Given the description of an element on the screen output the (x, y) to click on. 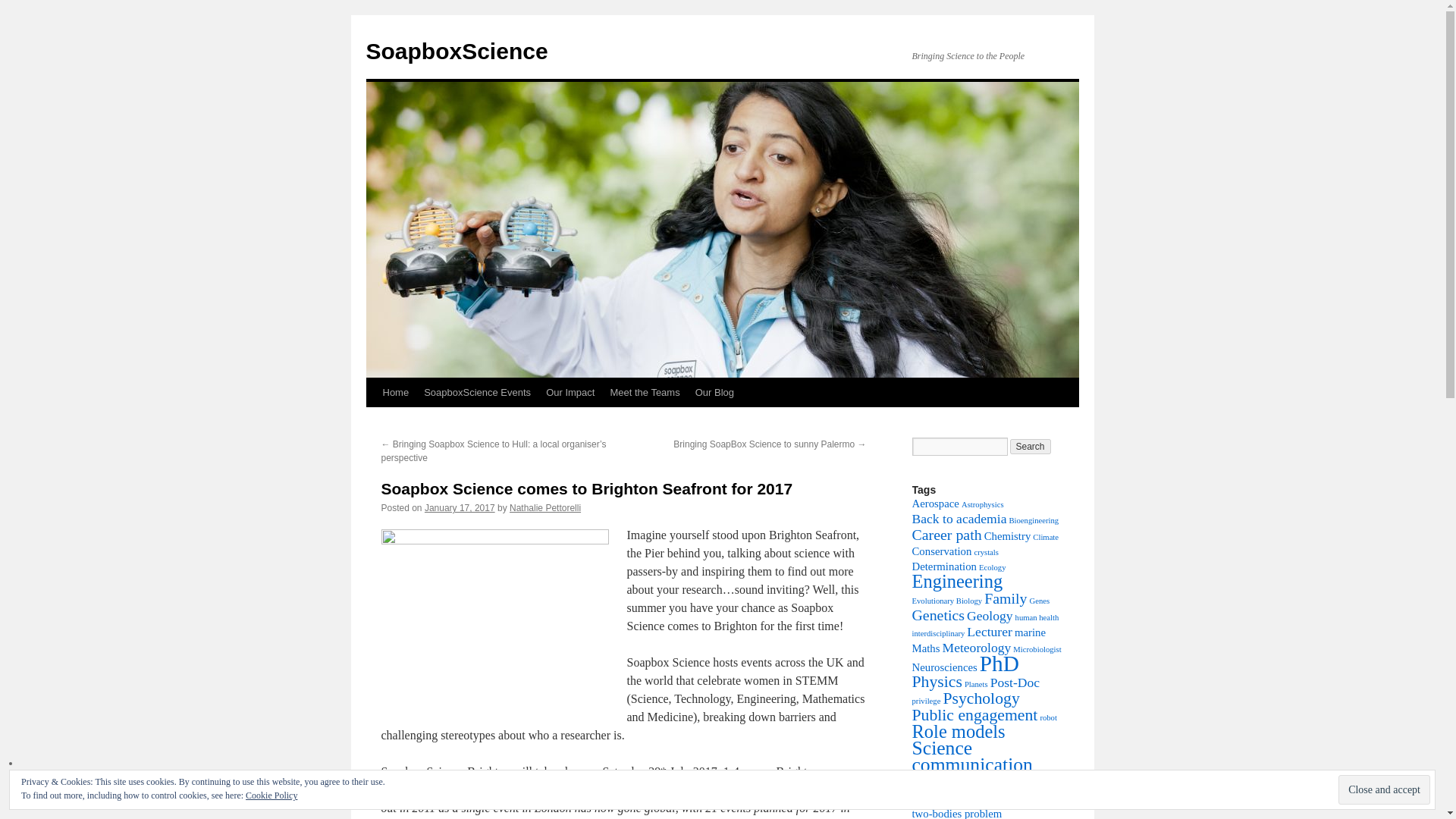
Nathalie Pettorelli (544, 507)
Home (395, 392)
Career path (946, 534)
Meet the Teams (644, 392)
Astrophysics (982, 504)
Bioengineering (1033, 520)
SoapboxScience (456, 50)
Our Blog (714, 392)
Search (1030, 446)
Back to academia (958, 518)
